Given the description of an element on the screen output the (x, y) to click on. 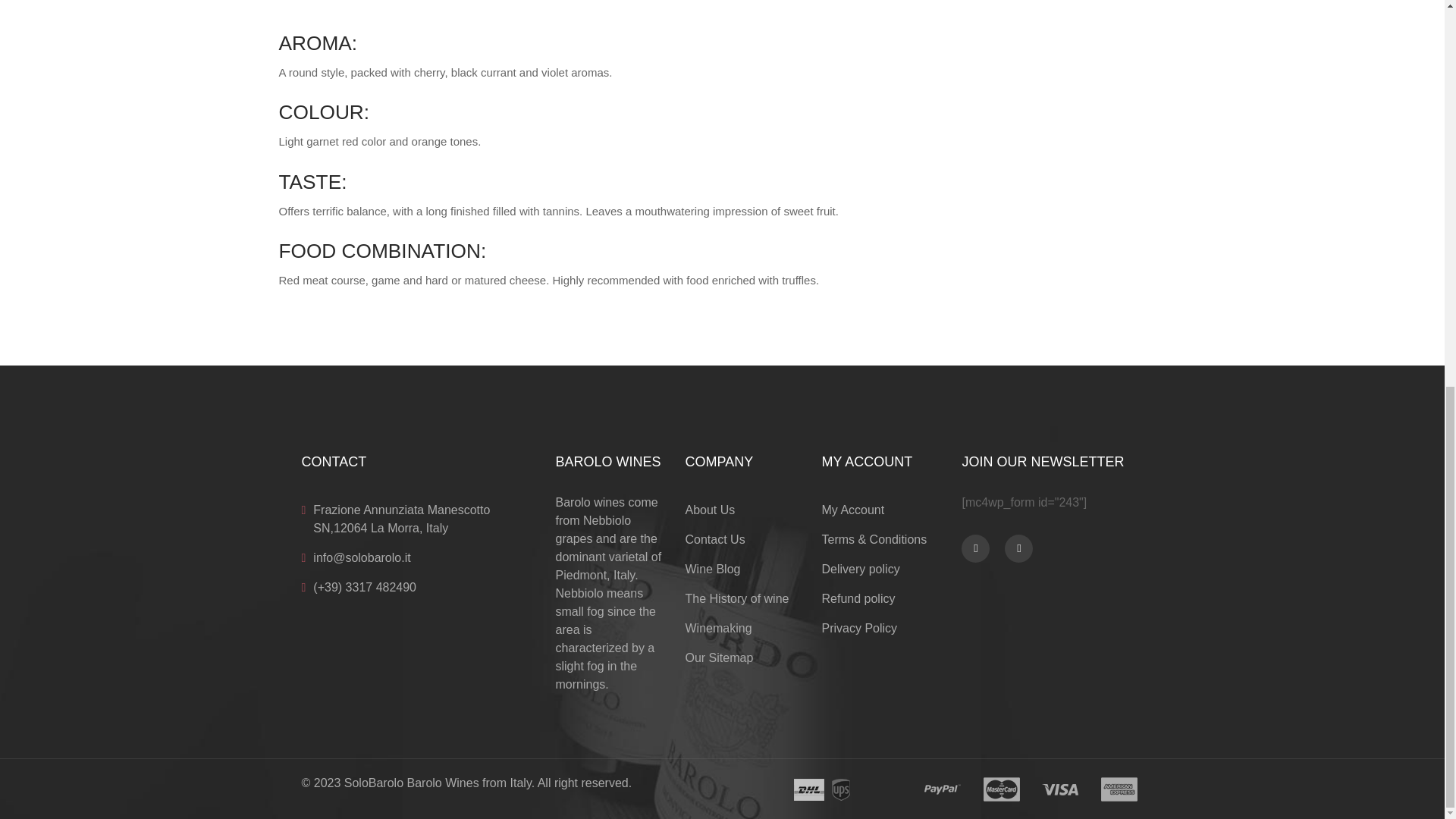
The History of wine (737, 598)
Wine Blog (713, 569)
Refund policy (858, 598)
My Account (852, 510)
About Us (710, 510)
Delivery policy (860, 569)
Barolo (571, 502)
Our Sitemap (719, 658)
Privacy Policy (858, 628)
Winemaking (718, 628)
Contact Us (715, 539)
